Given the description of an element on the screen output the (x, y) to click on. 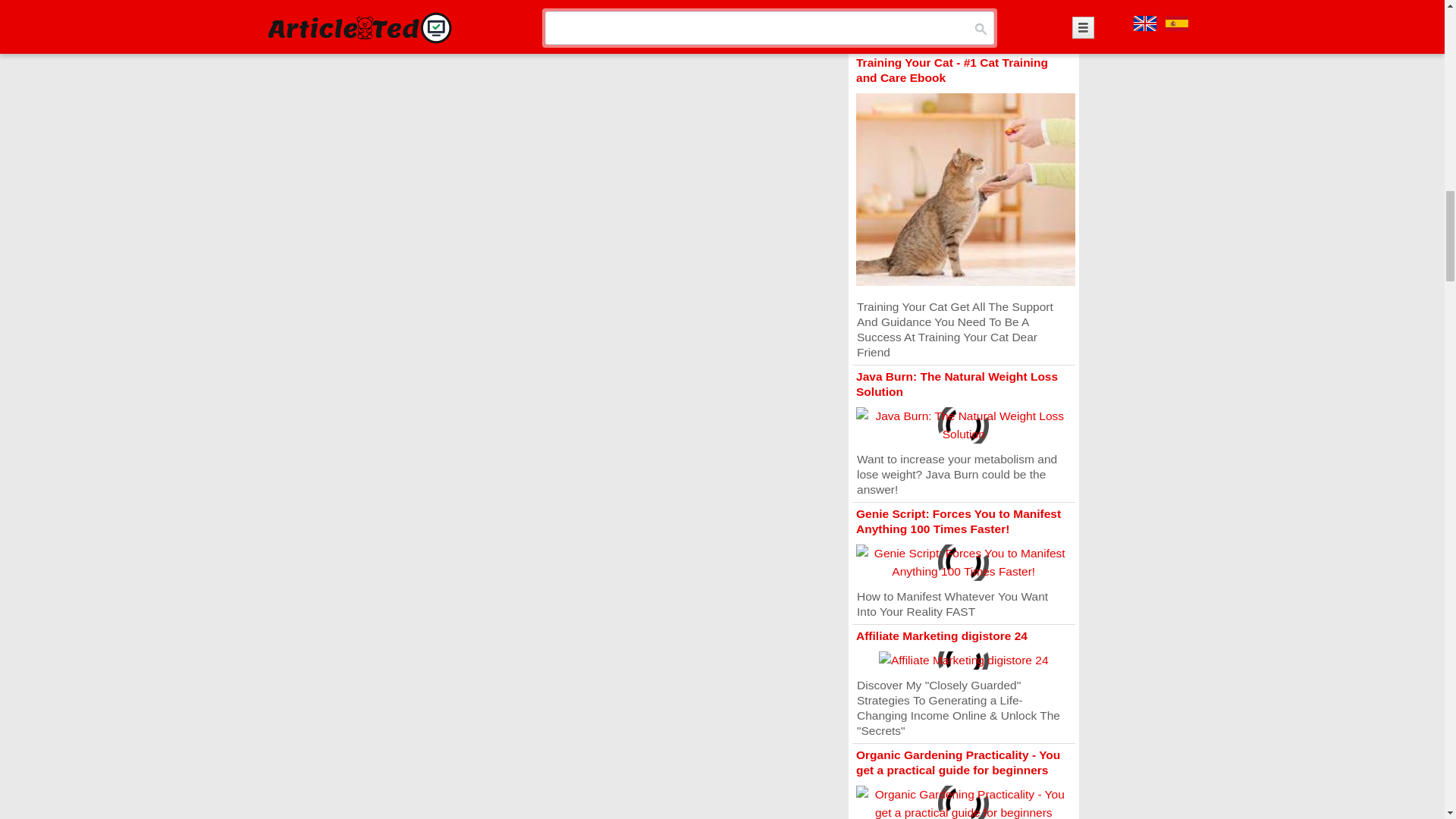
Java Burn: The Natural Weight Loss Solution (957, 384)
Affiliate Marketing digistore 24 (941, 635)
